Given the description of an element on the screen output the (x, y) to click on. 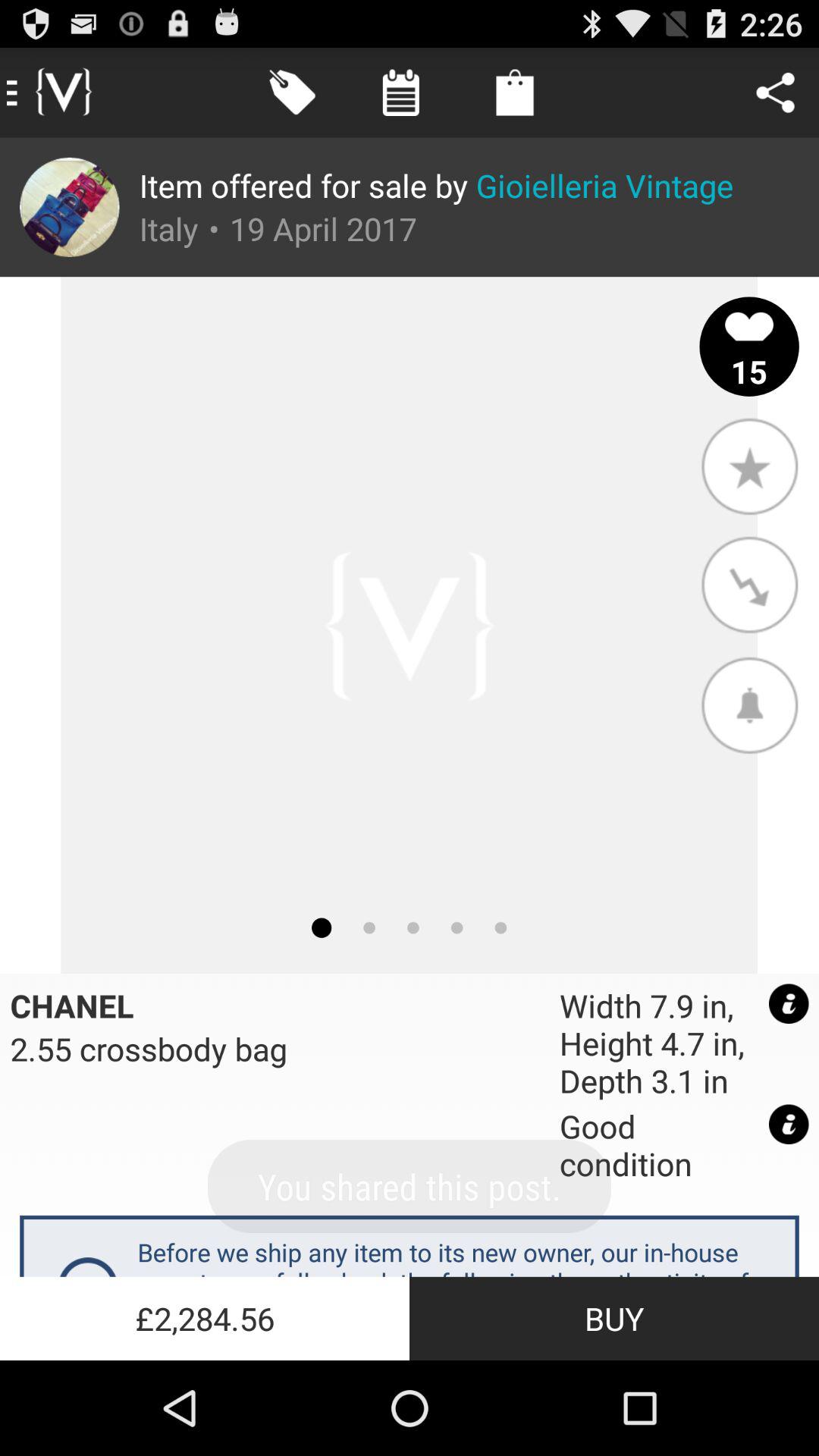
turn on icon below 15 item (749, 465)
